Given the description of an element on the screen output the (x, y) to click on. 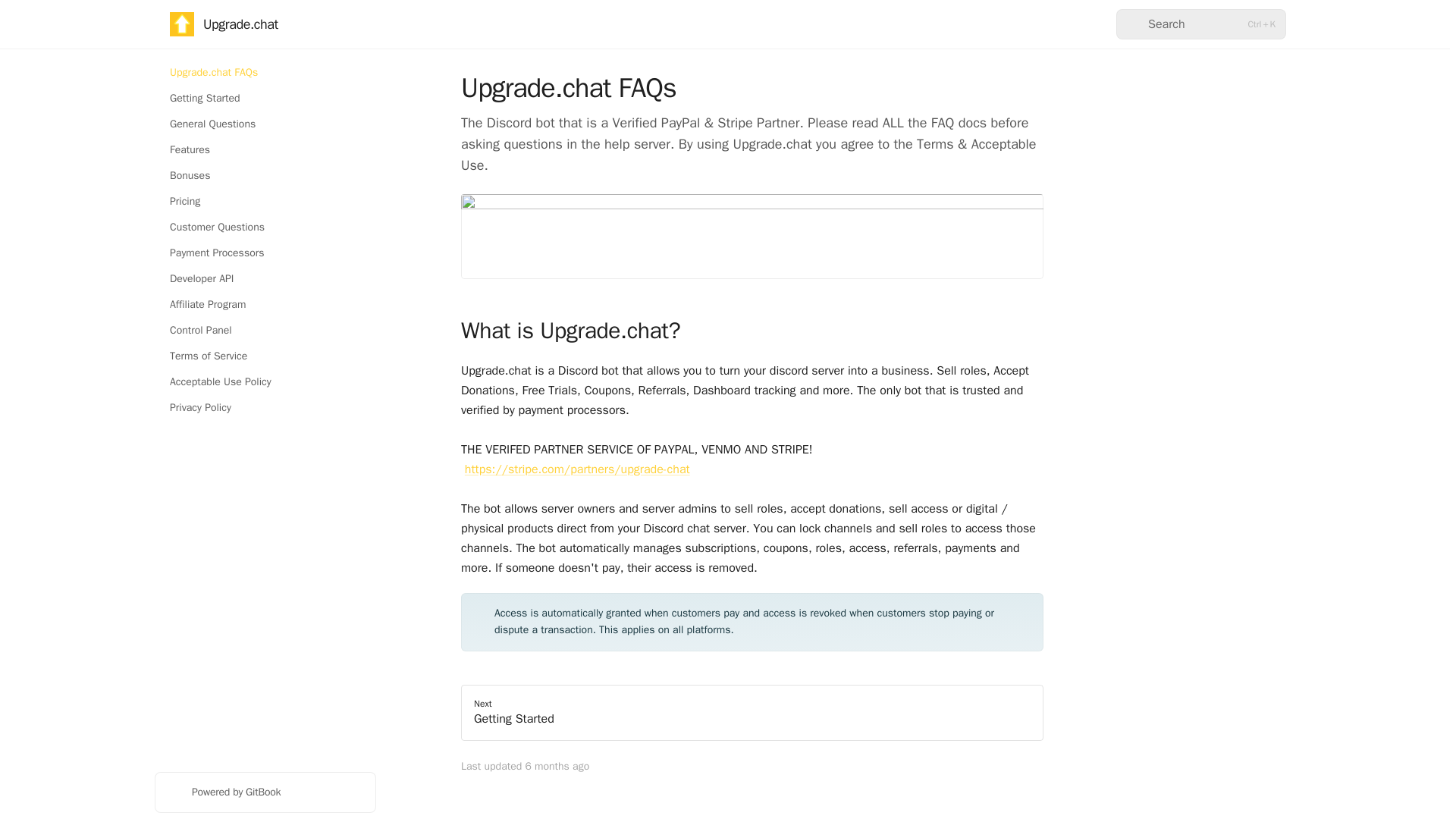
Customer Questions (264, 227)
Pricing (264, 201)
Features (264, 150)
Upgrade.chat (224, 24)
Upgrade.chat FAQs (264, 72)
Getting Started (264, 98)
Payment Processors (264, 252)
Bonuses (264, 175)
General Questions (264, 124)
